Given the description of an element on the screen output the (x, y) to click on. 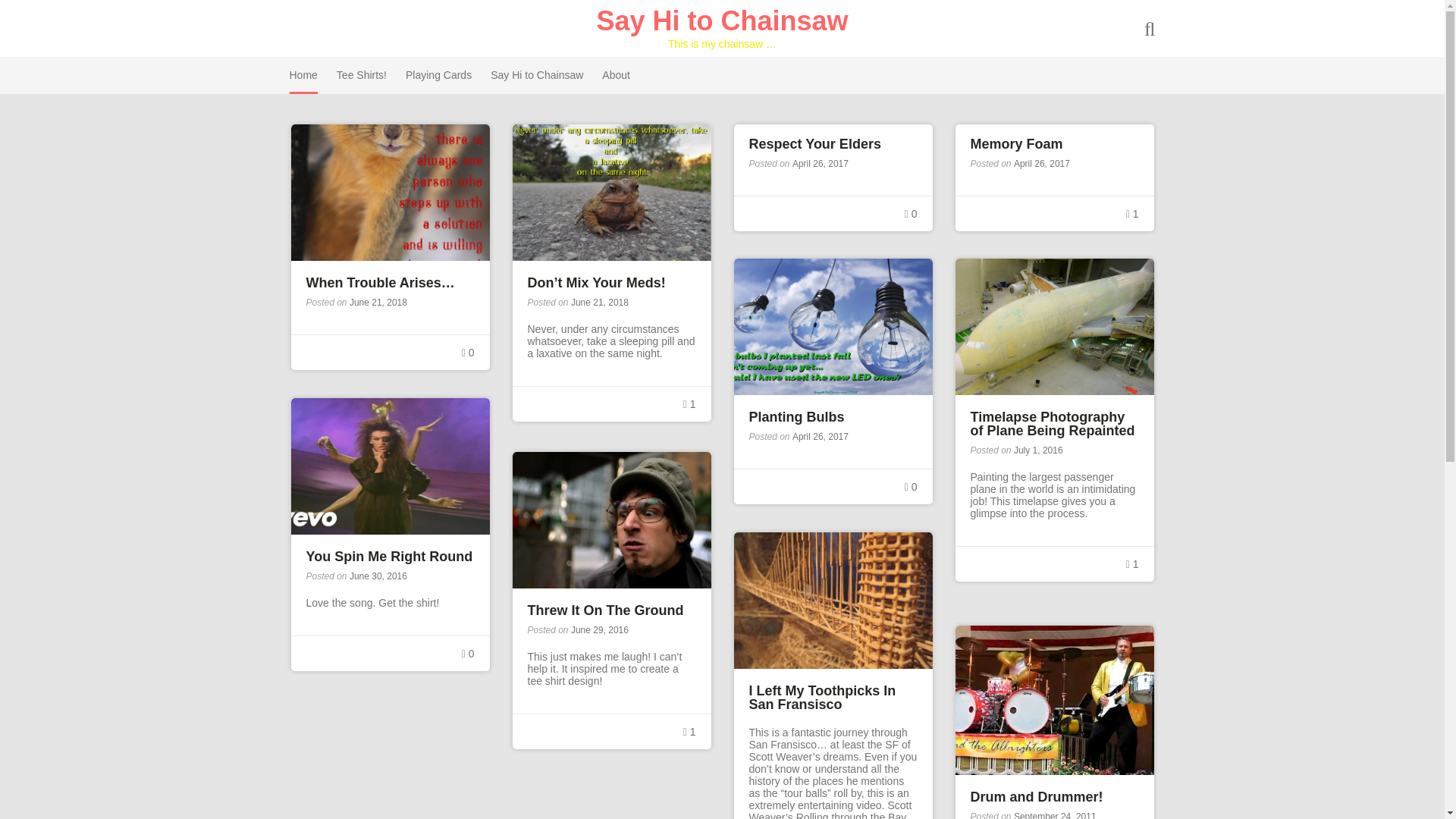
June 21, 2018 (378, 302)
Say Hi to Chainsaw (536, 75)
Say Hi to Chainsaw (721, 20)
This is my chainsaw ... (721, 20)
June 21, 2018 (599, 302)
Playing Cards (438, 75)
July 1, 2016 (1037, 450)
April 26, 2017 (820, 436)
Tee Shirts! (361, 75)
April 26, 2017 (1041, 163)
